Given the description of an element on the screen output the (x, y) to click on. 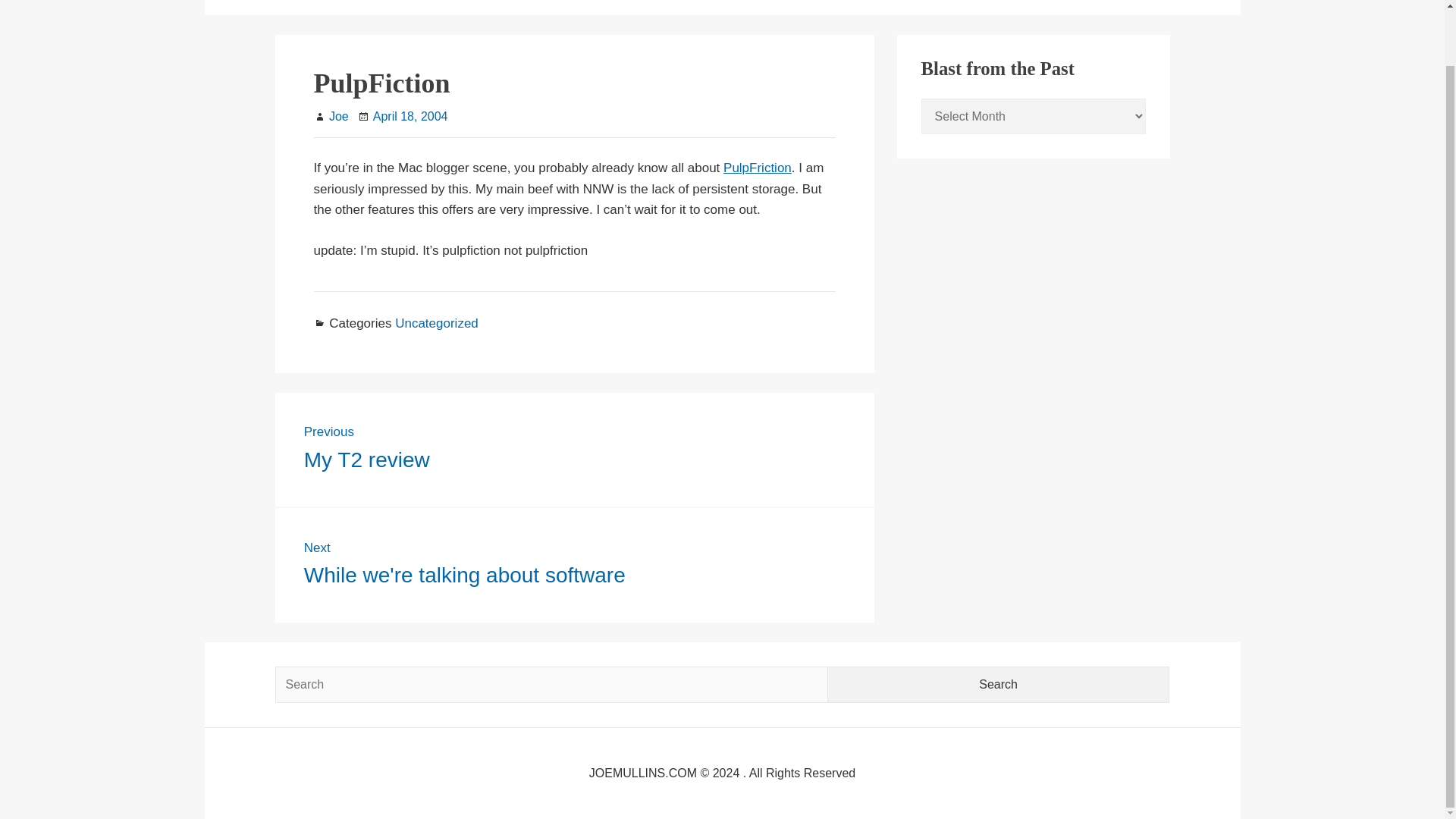
PulpFriction (757, 167)
Joe (339, 115)
Search (999, 684)
April 18, 2004 (575, 449)
Search (410, 115)
Search for: (999, 684)
Search (551, 684)
Uncategorized (999, 684)
Pulp Fiction, a new feed reader (436, 323)
